Given the description of an element on the screen output the (x, y) to click on. 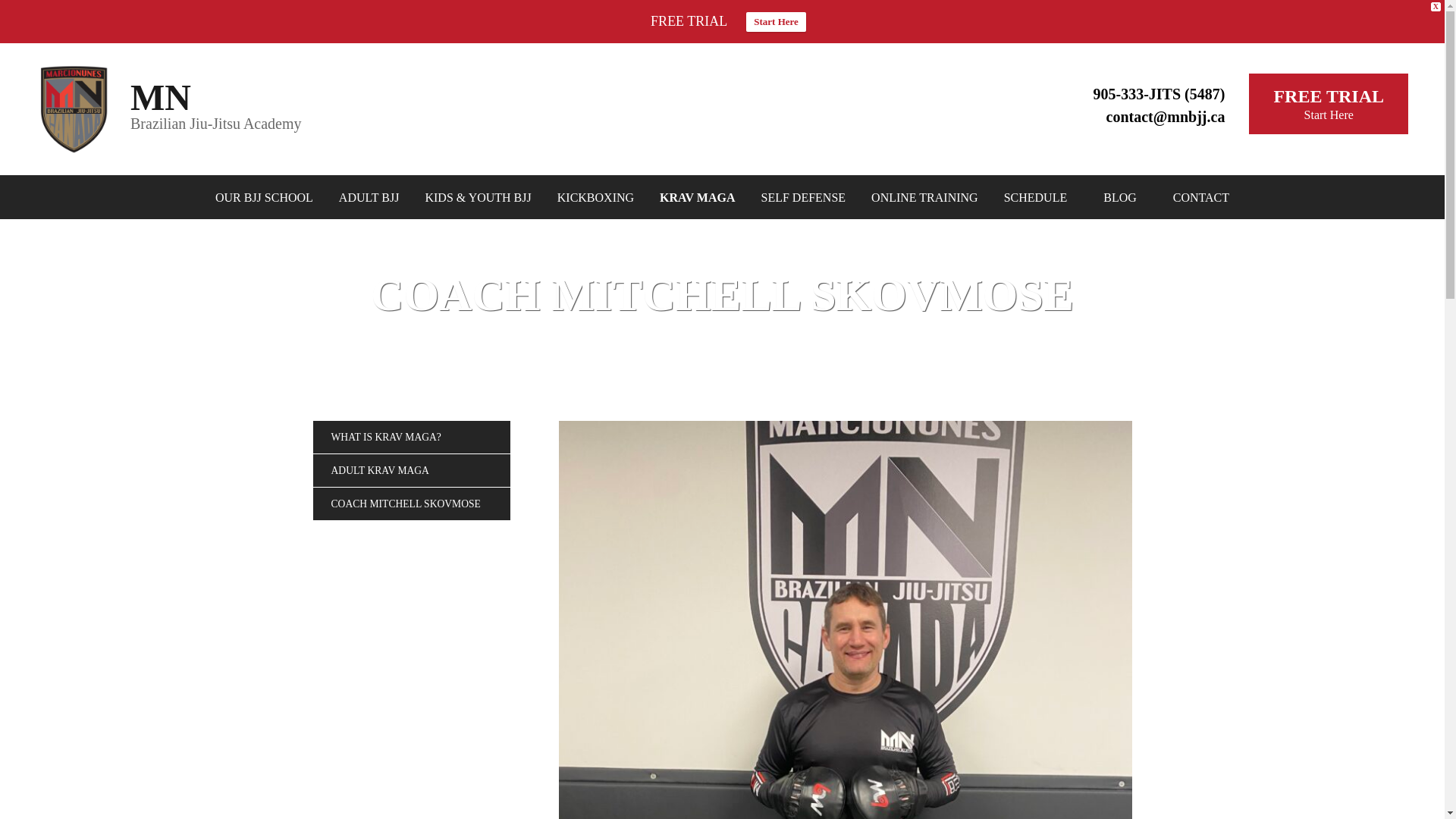
OUR BJJ SCHOOL (1328, 103)
ADULT BJJ (259, 196)
Start Here (363, 196)
Adult BJJ Program (775, 21)
MN (363, 196)
KRAV MAGA (160, 96)
KICKBOXING (692, 196)
SELF DEFENSE (590, 196)
Our BJJ School (798, 196)
